Given the description of an element on the screen output the (x, y) to click on. 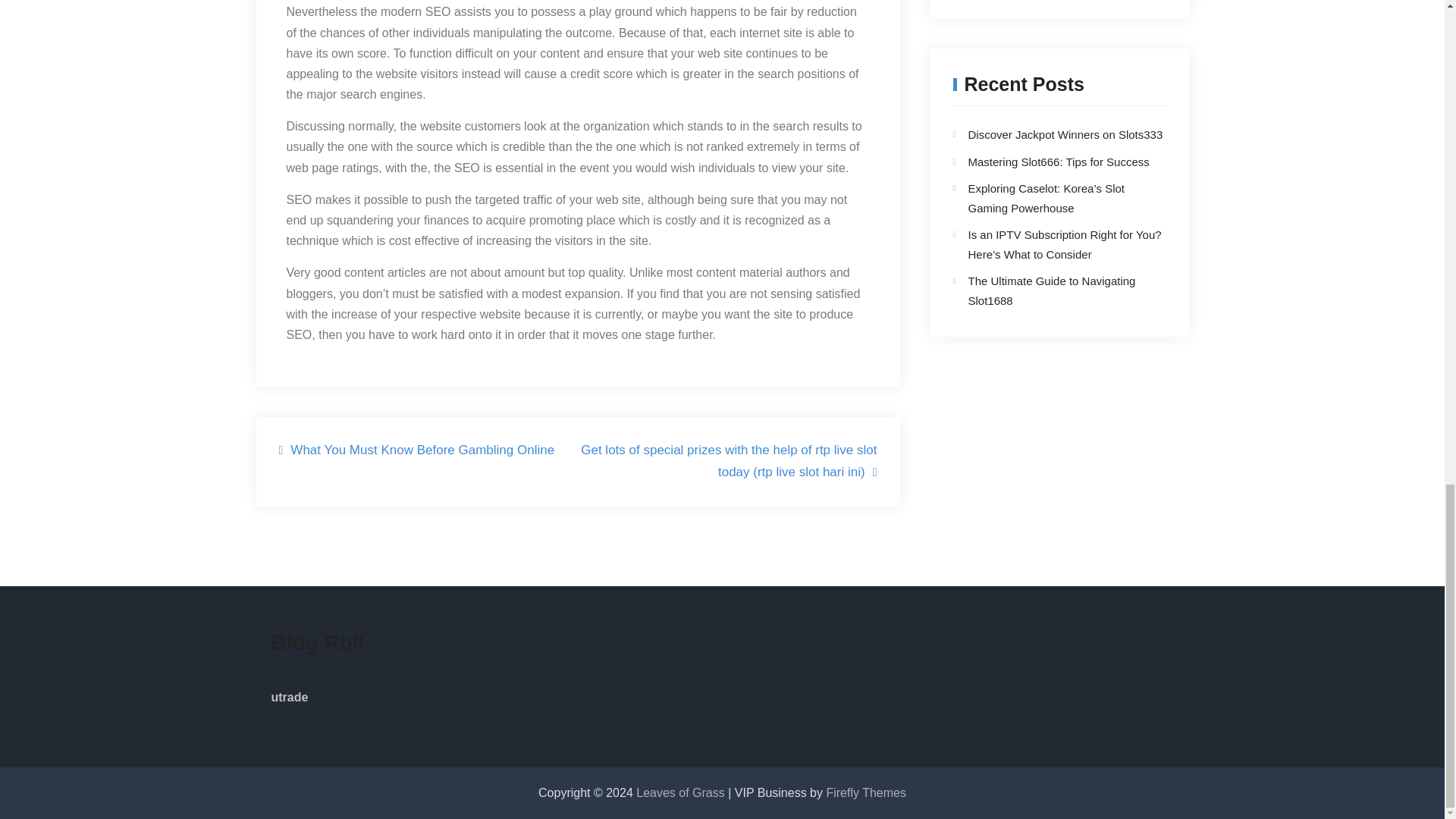
Discover Jackpot Winners on Slots333 (1064, 133)
Leaves of Grass (682, 792)
Mastering Slot666: Tips for Success (1058, 161)
The Ultimate Guide to Navigating Slot1688 (1051, 290)
What You Must Know Before Gambling Online (416, 450)
Firefly Themes (865, 792)
utrade (289, 697)
